Given the description of an element on the screen output the (x, y) to click on. 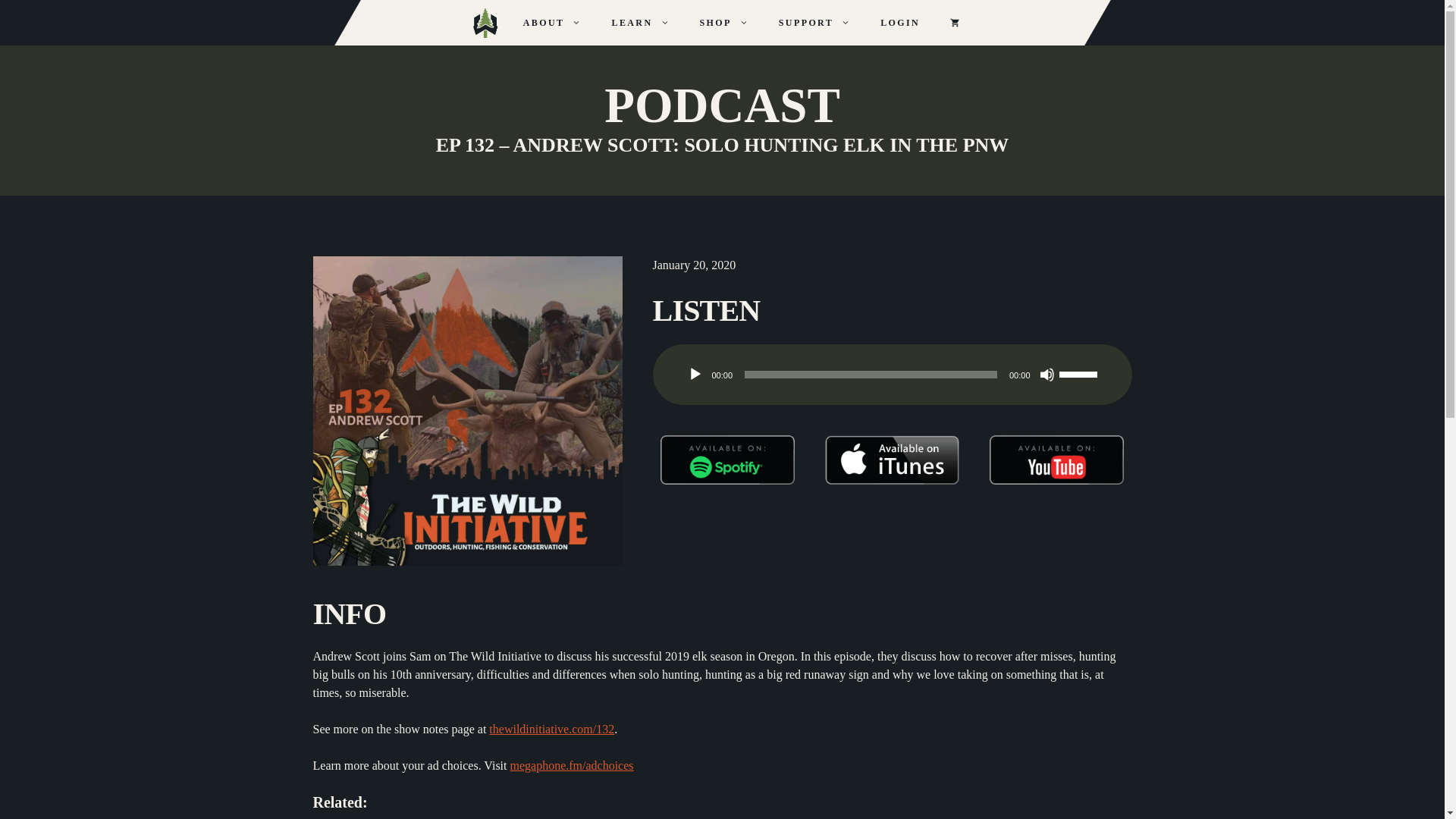
SUPPORT (813, 22)
Mute (1046, 374)
SHOP (723, 22)
LEARN (639, 22)
ABOUT (552, 22)
Play (694, 374)
